Given the description of an element on the screen output the (x, y) to click on. 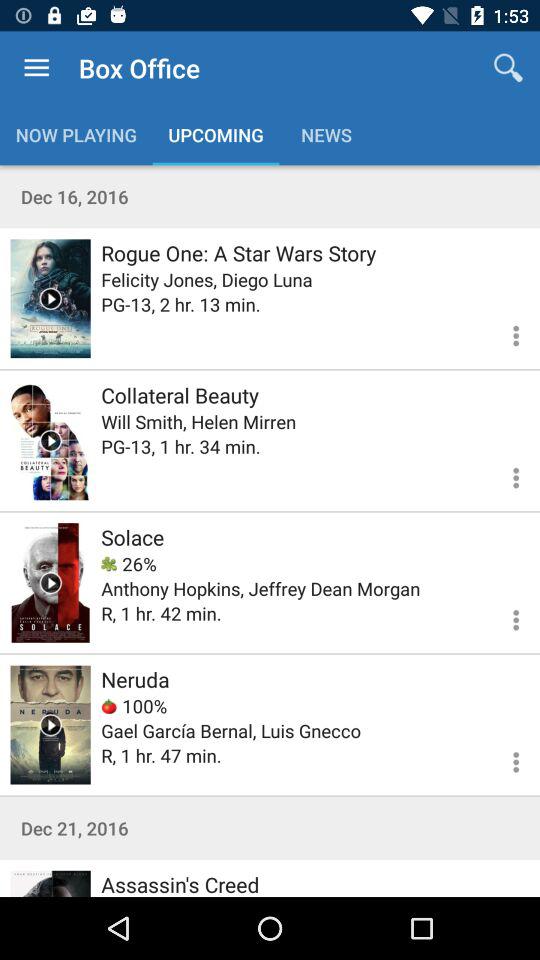
just play (50, 440)
